Given the description of an element on the screen output the (x, y) to click on. 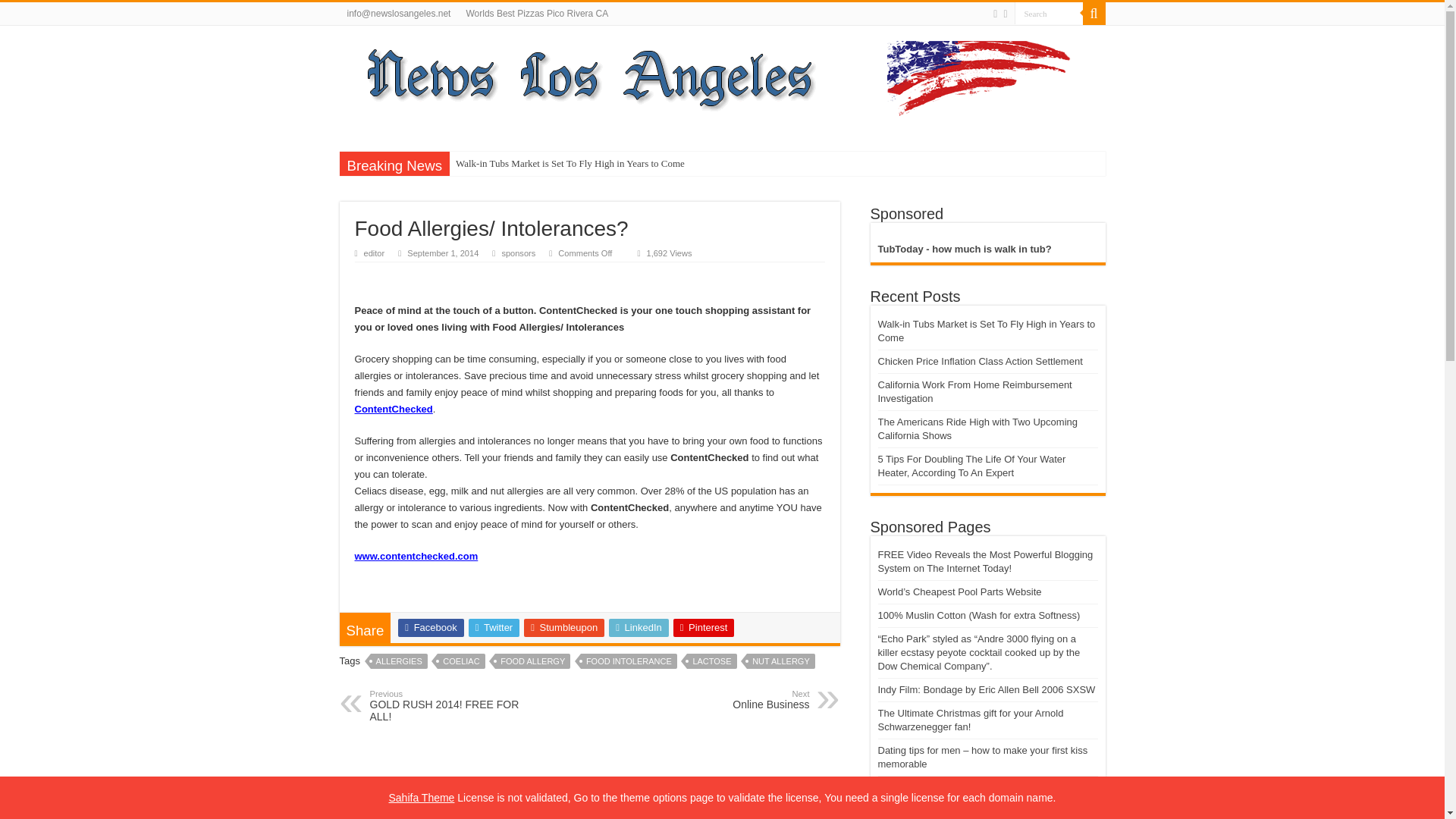
ContentChecked (393, 408)
editor (374, 252)
COELIAC (461, 661)
Stumbleupon (447, 705)
Search (564, 628)
sponsors (1048, 13)
ALLERGIES (517, 252)
Walk-in Tubs Market is Set To Fly High in Years to Come (399, 661)
Facebook (633, 163)
Twitter (994, 13)
Search (1005, 13)
Search (532, 661)
